Given the description of an element on the screen output the (x, y) to click on. 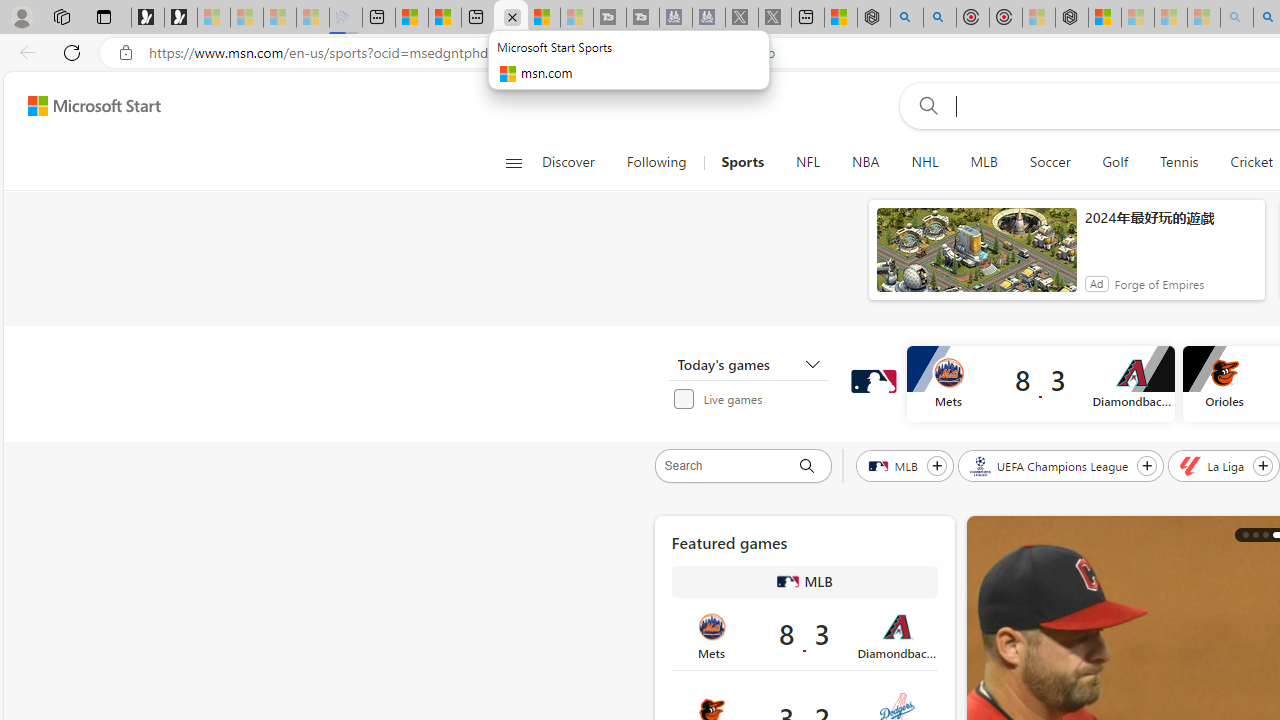
Golf (1115, 162)
Cricket (1251, 162)
Golf (1115, 162)
anim-content (975, 258)
Class: button-glyph (513, 162)
MLB MLB (804, 581)
Skip to footer (82, 105)
